Given the description of an element on the screen output the (x, y) to click on. 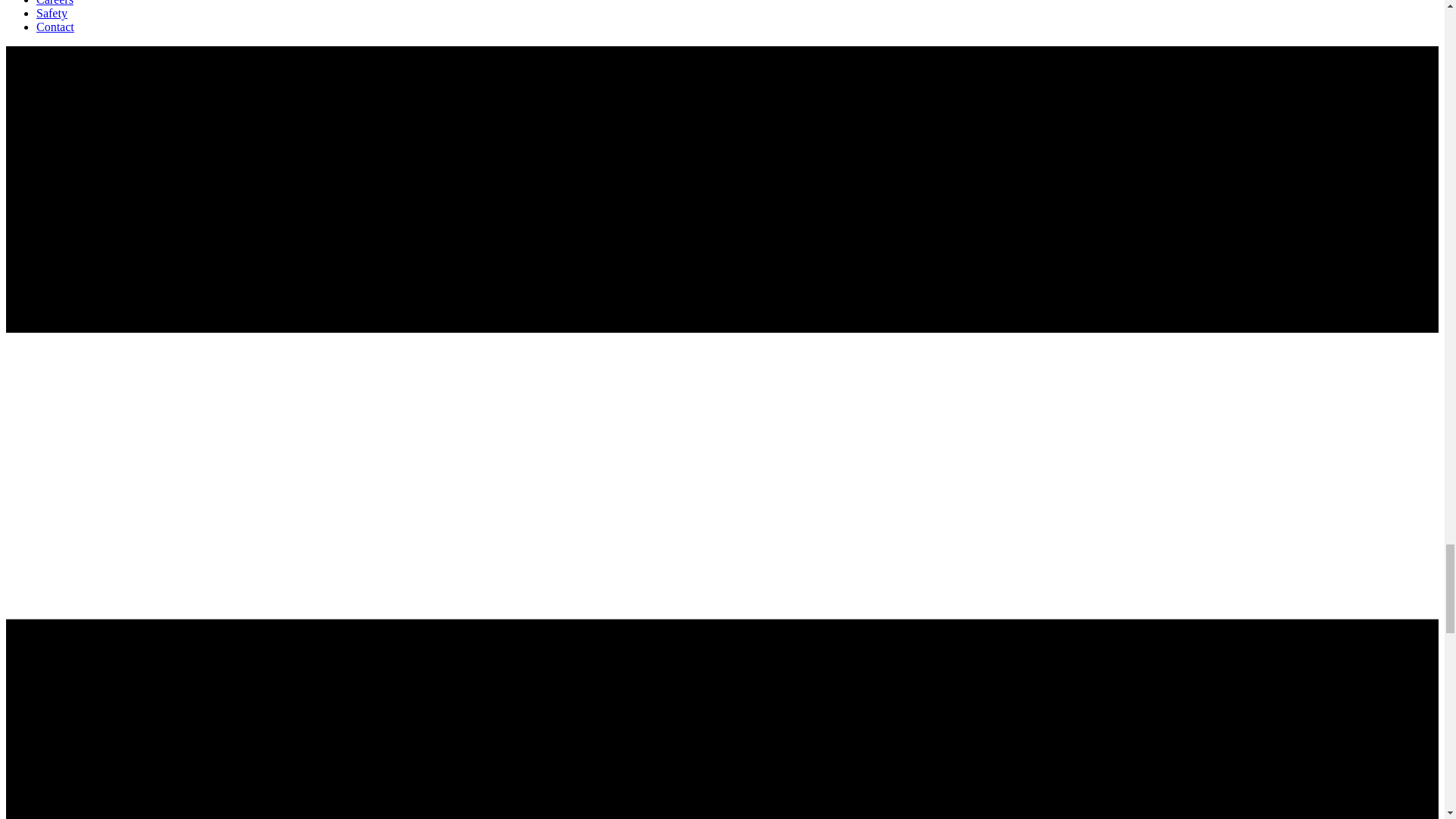
Careers (55, 2)
Contact (55, 26)
Safety (51, 12)
